Given the description of an element on the screen output the (x, y) to click on. 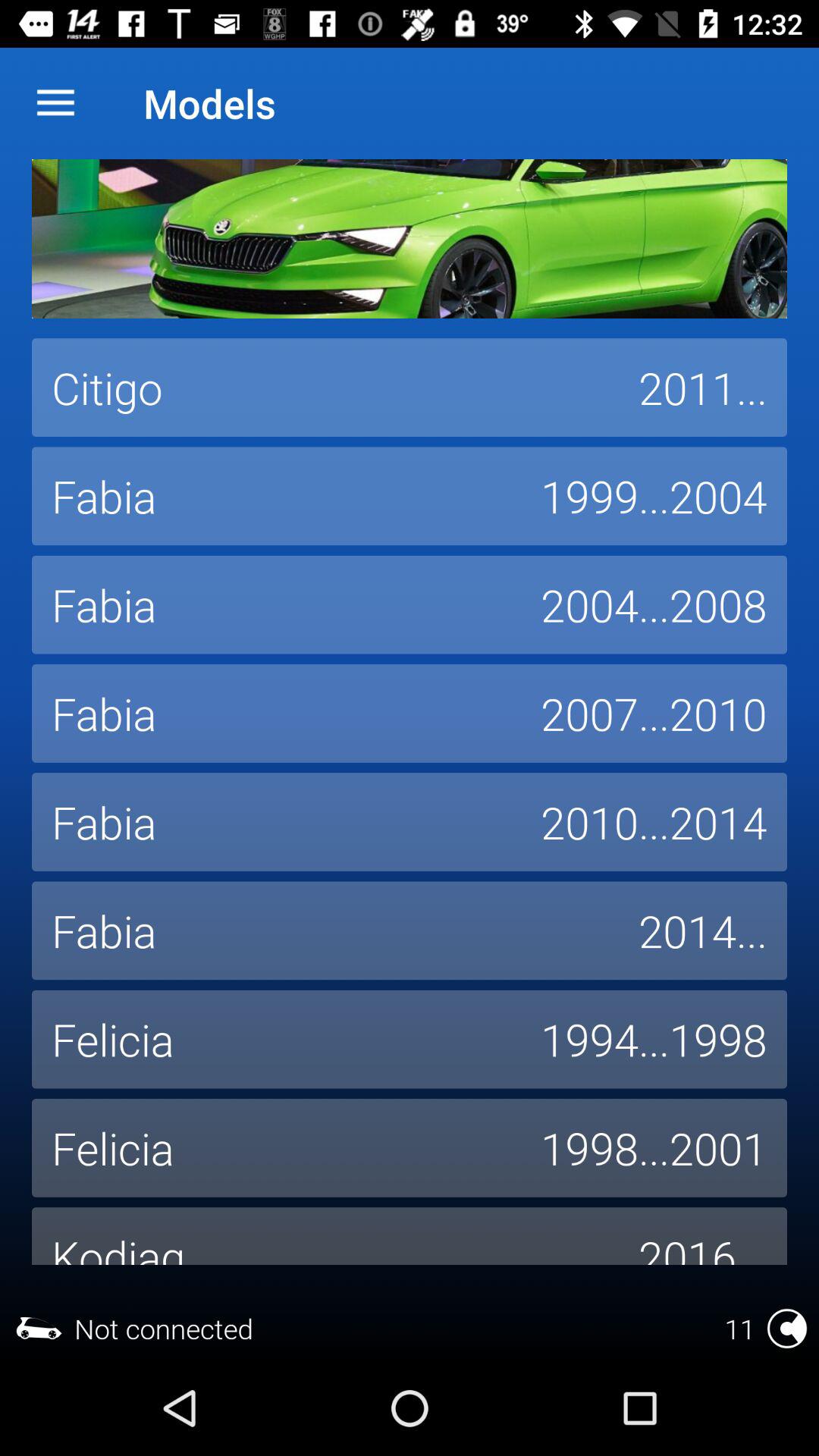
scroll until the citigo icon (324, 387)
